Given the description of an element on the screen output the (x, y) to click on. 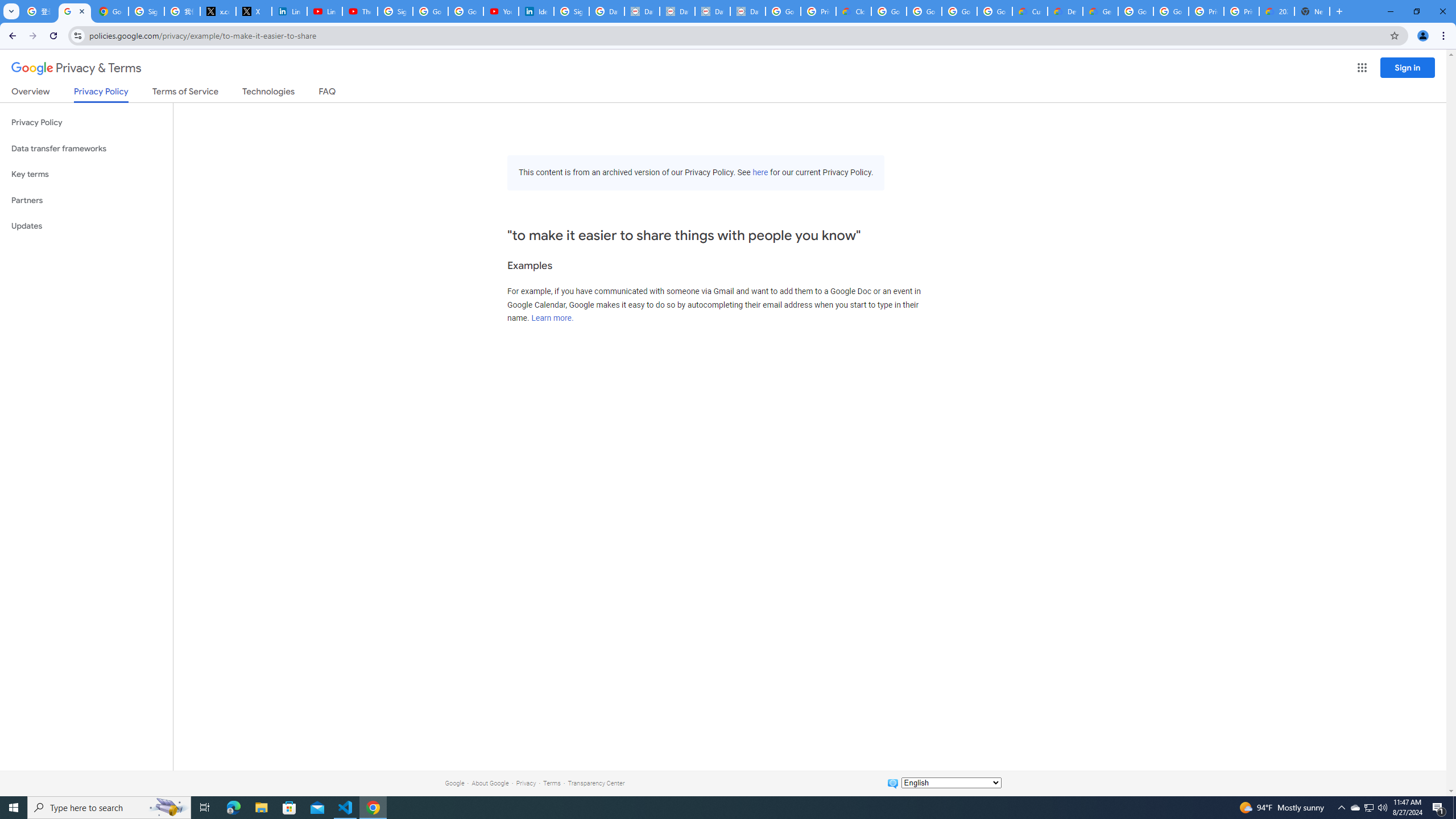
Data Privacy Framework (747, 11)
Privacy & Terms (76, 68)
Google (454, 783)
Data Privacy Framework (641, 11)
